Given the description of an element on the screen output the (x, y) to click on. 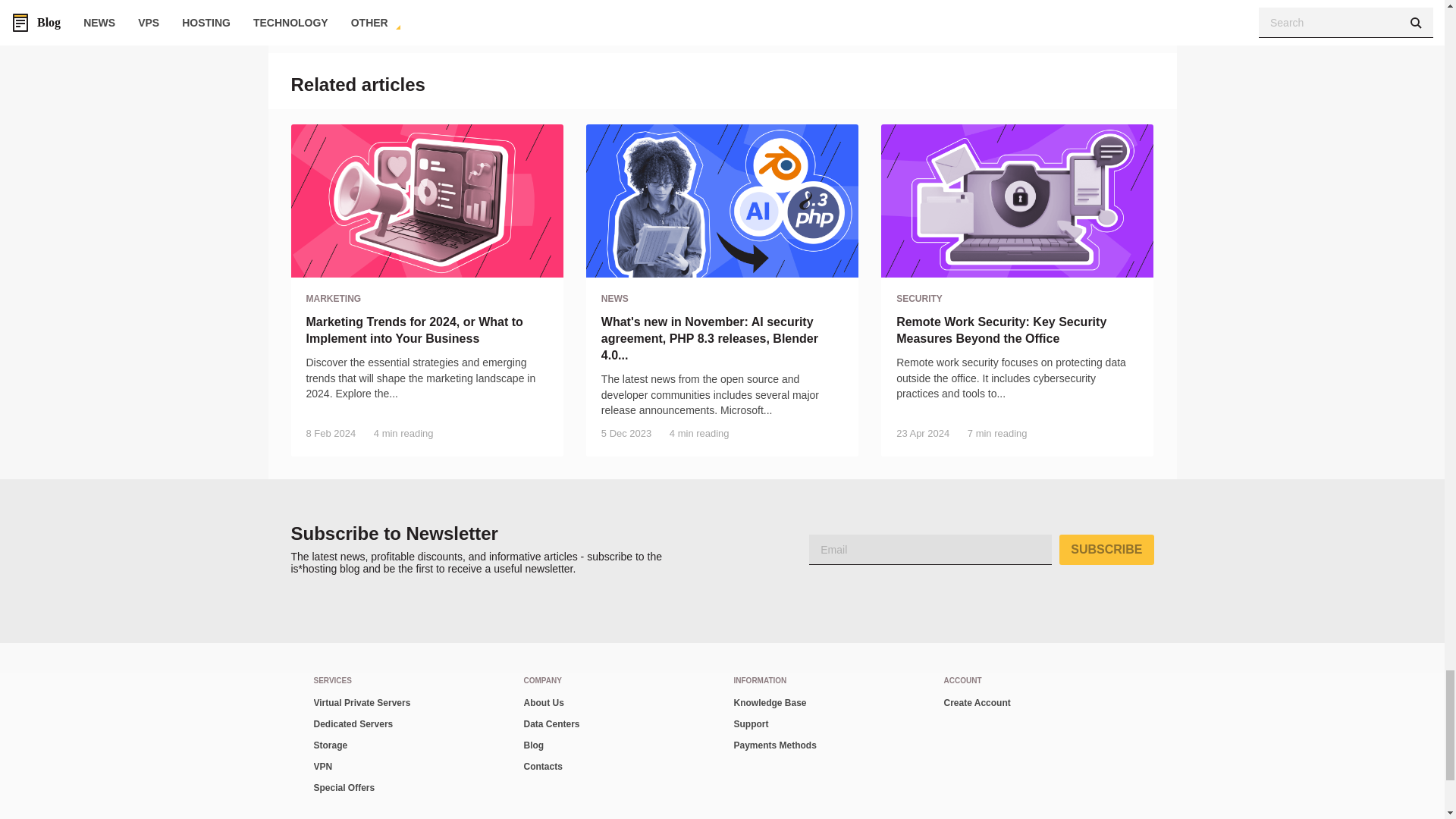
Knowledge Base (827, 703)
Special Offers (407, 788)
Dedicated Servers (407, 724)
Create Account (1037, 703)
Payments Methods (827, 745)
Subscribe (1106, 549)
Contacts (616, 767)
Data Centers (616, 724)
